Given the description of an element on the screen output the (x, y) to click on. 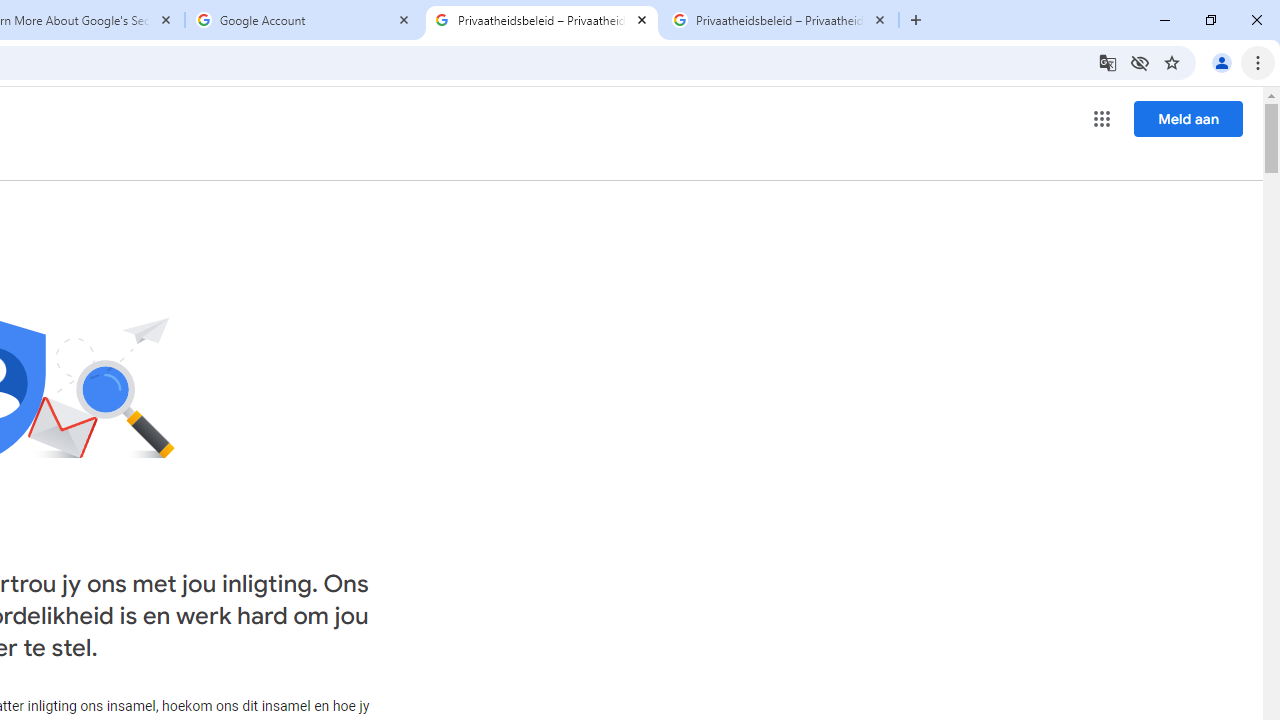
Translate this page (1107, 62)
Google Account (304, 20)
Meld aan (1188, 118)
Google-programme (1101, 118)
